Given the description of an element on the screen output the (x, y) to click on. 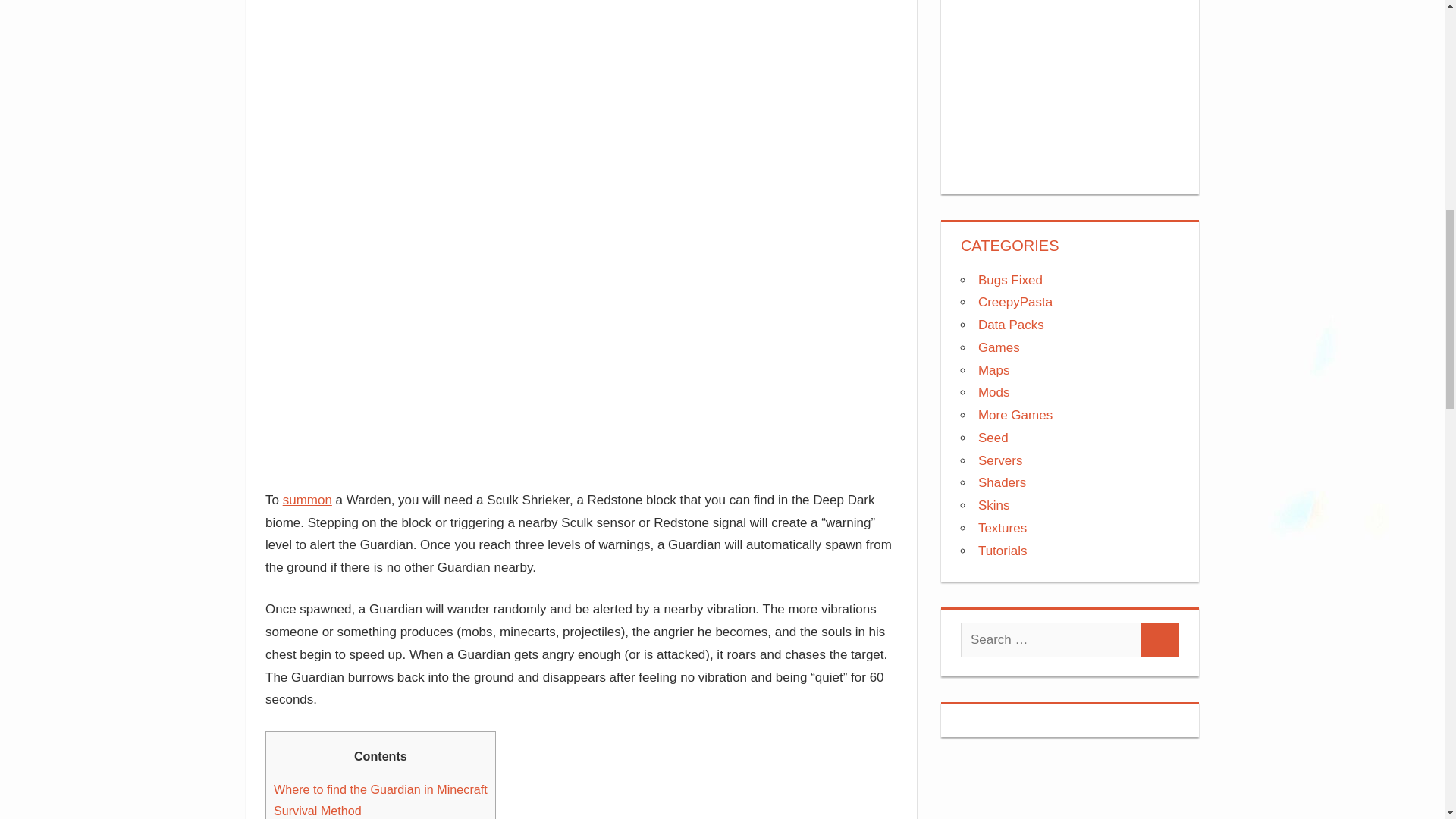
Survival Method (317, 810)
Advertisement (581, 72)
Bugs Fixed (1010, 279)
Advertisement (1069, 83)
CreepyPasta (1015, 301)
Where to find the Guardian in Minecraft (380, 789)
Search for: (1050, 639)
summon (306, 499)
